Given the description of an element on the screen output the (x, y) to click on. 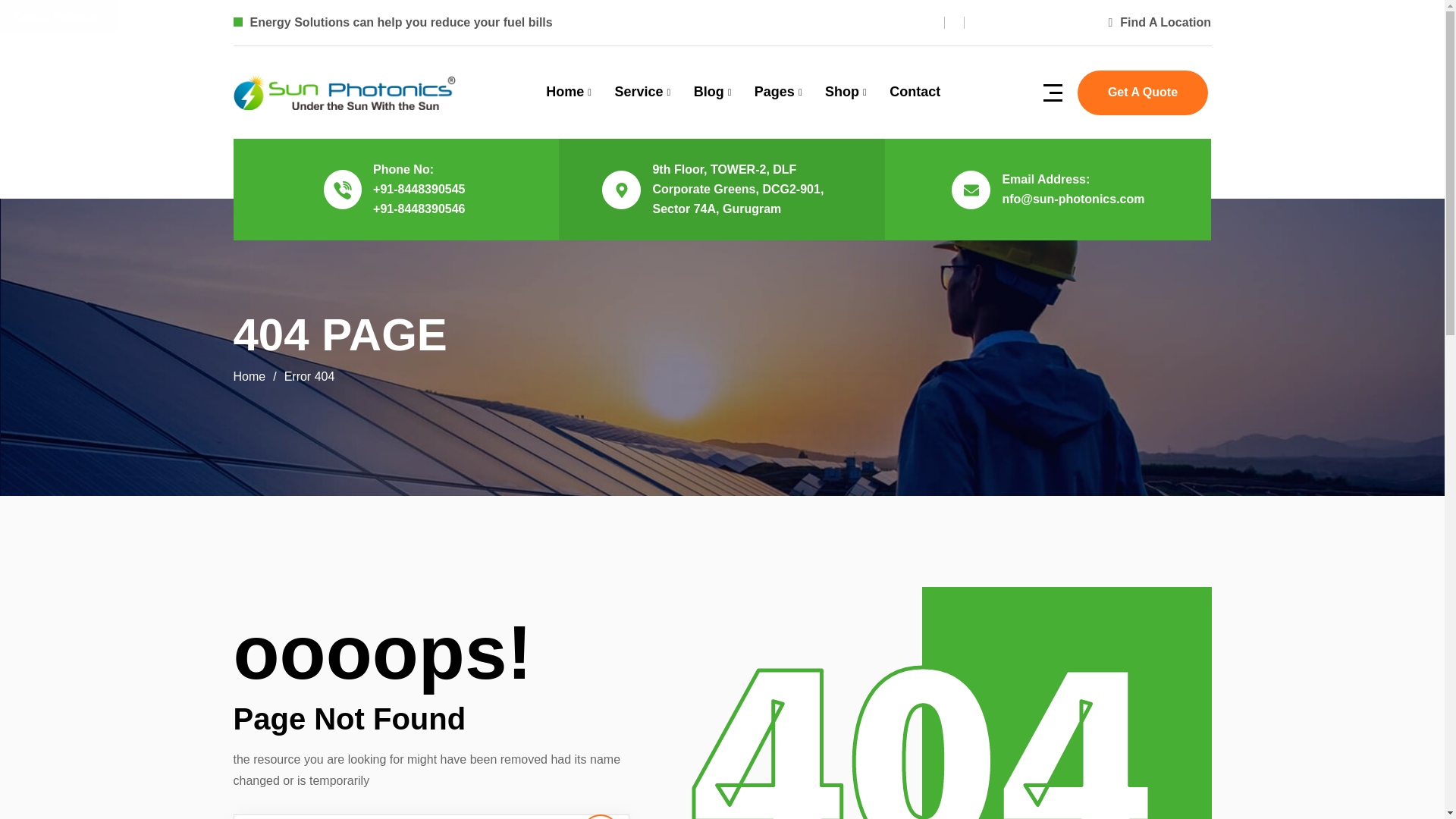
Find A Location (1159, 21)
Pages (778, 92)
Service (641, 92)
Blog (713, 92)
Contact (914, 91)
Home (568, 92)
Cancel Preloader (58, 16)
Shop (845, 92)
